Given the description of an element on the screen output the (x, y) to click on. 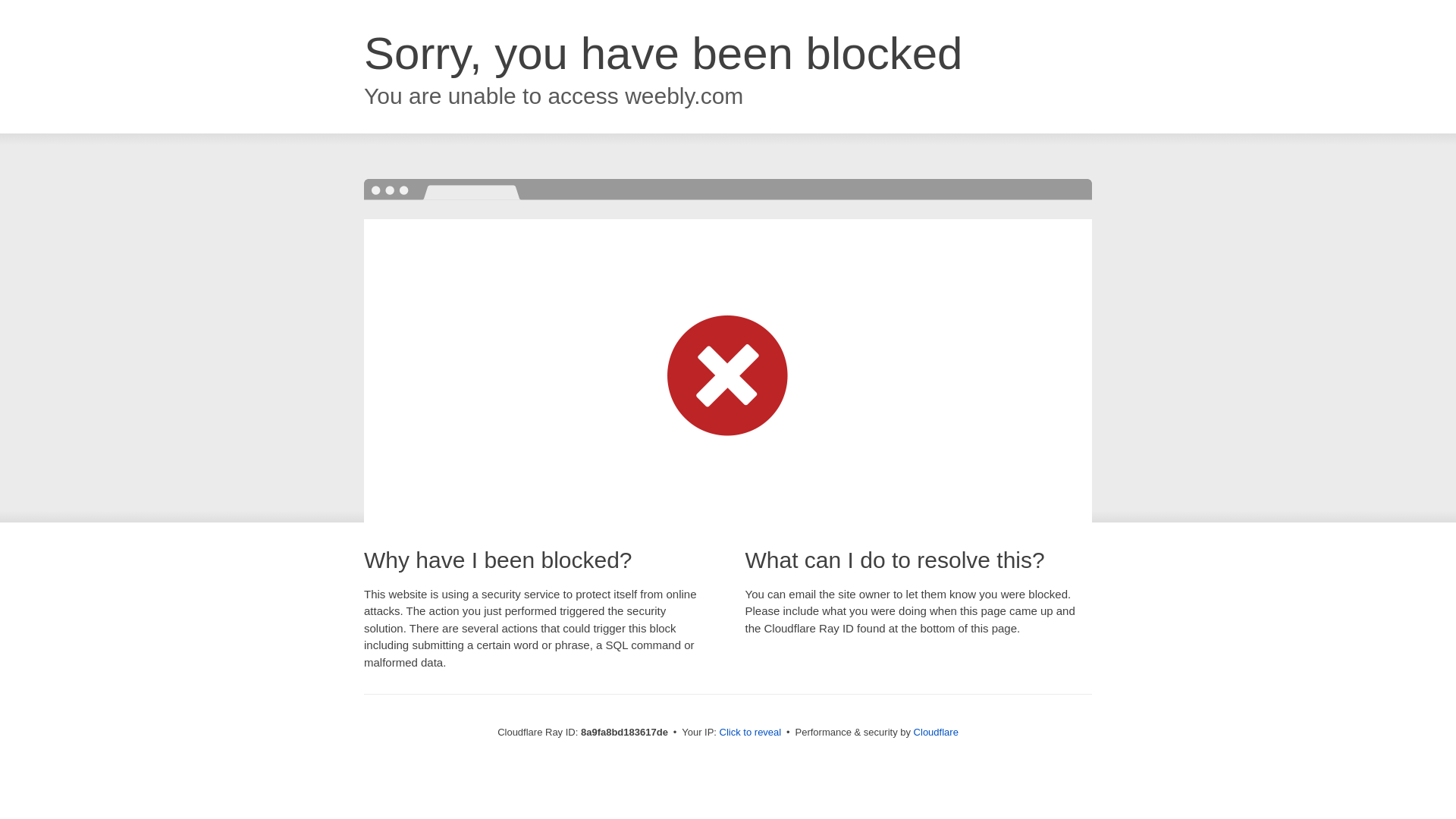
Cloudflare (936, 731)
Click to reveal (750, 732)
